Given the description of an element on the screen output the (x, y) to click on. 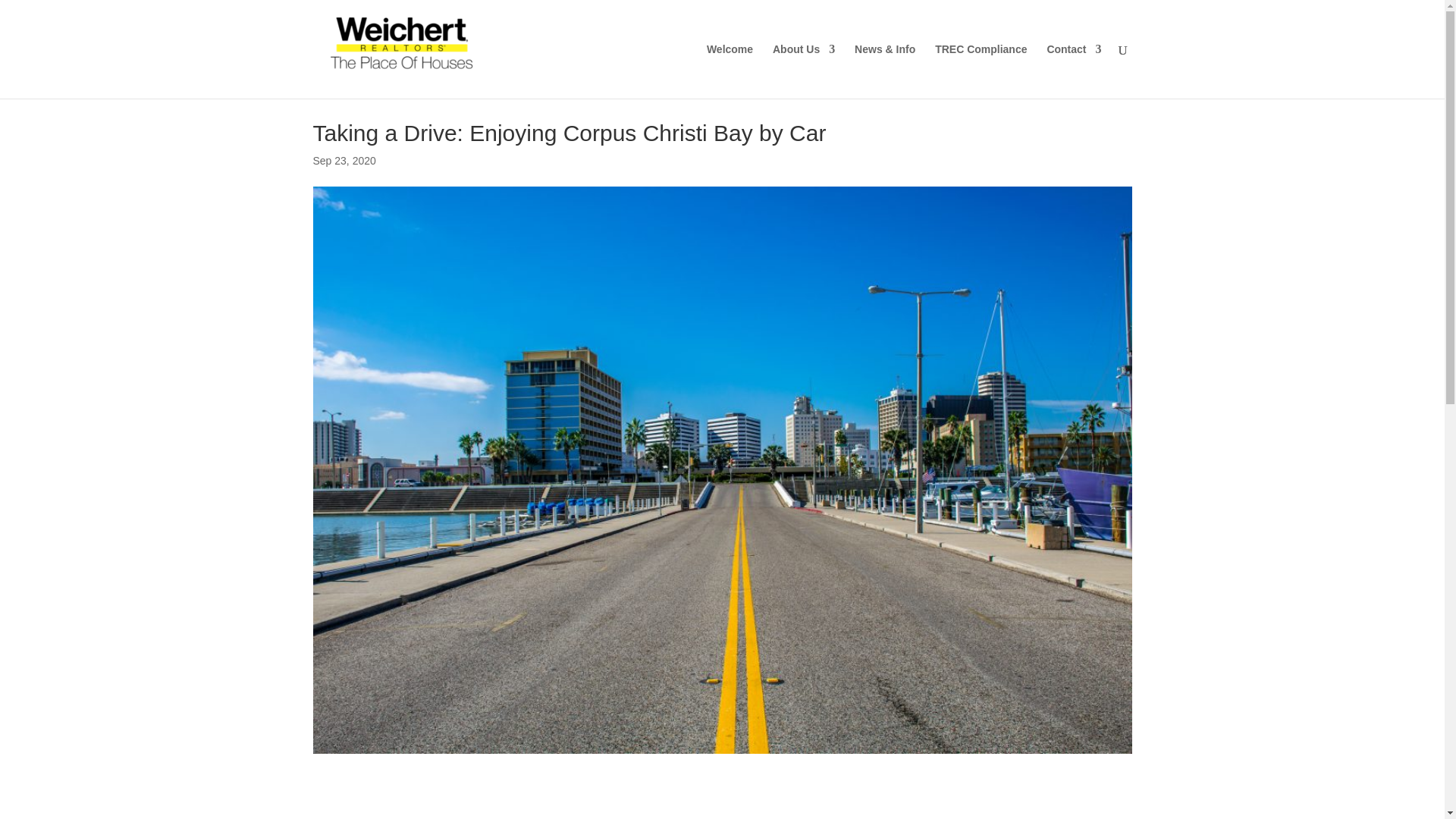
TREC Compliance (980, 71)
About Us (803, 71)
Contact (1073, 71)
